Given the description of an element on the screen output the (x, y) to click on. 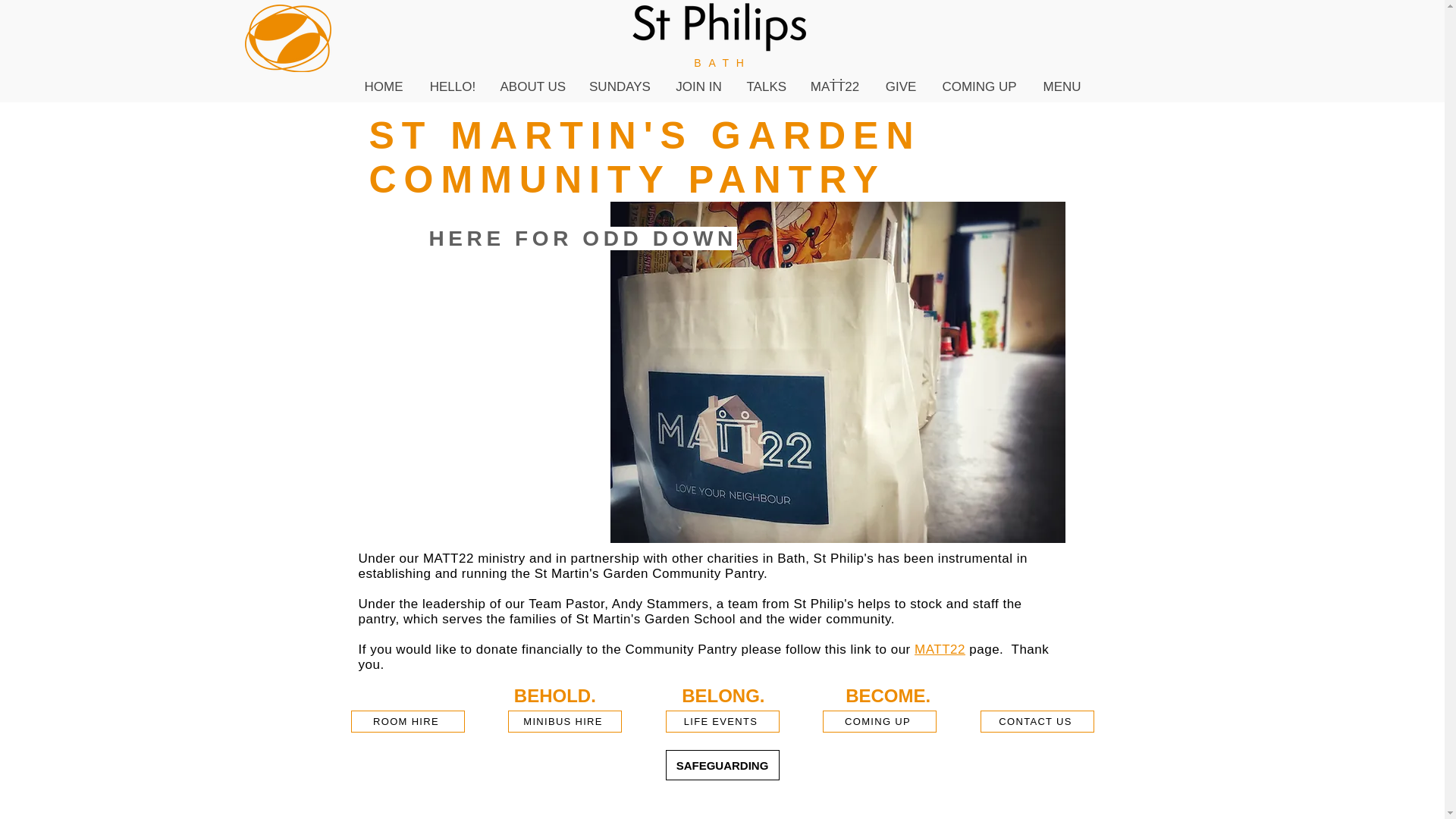
SUNDAYS (619, 86)
ABOUT US (531, 86)
HOME (383, 86)
BATH (722, 62)
COMING UP (978, 86)
COMING UP (879, 721)
TALKS (764, 86)
ROOM HIRE (407, 721)
SAFEGUARDING (721, 765)
BEHOLD.                 BELONG.                BECOME. (721, 695)
GIVE (900, 86)
HELLO! (451, 86)
MATT22 (939, 649)
MINIBUS HIRE (564, 721)
MENU (1061, 86)
